Given the description of an element on the screen output the (x, y) to click on. 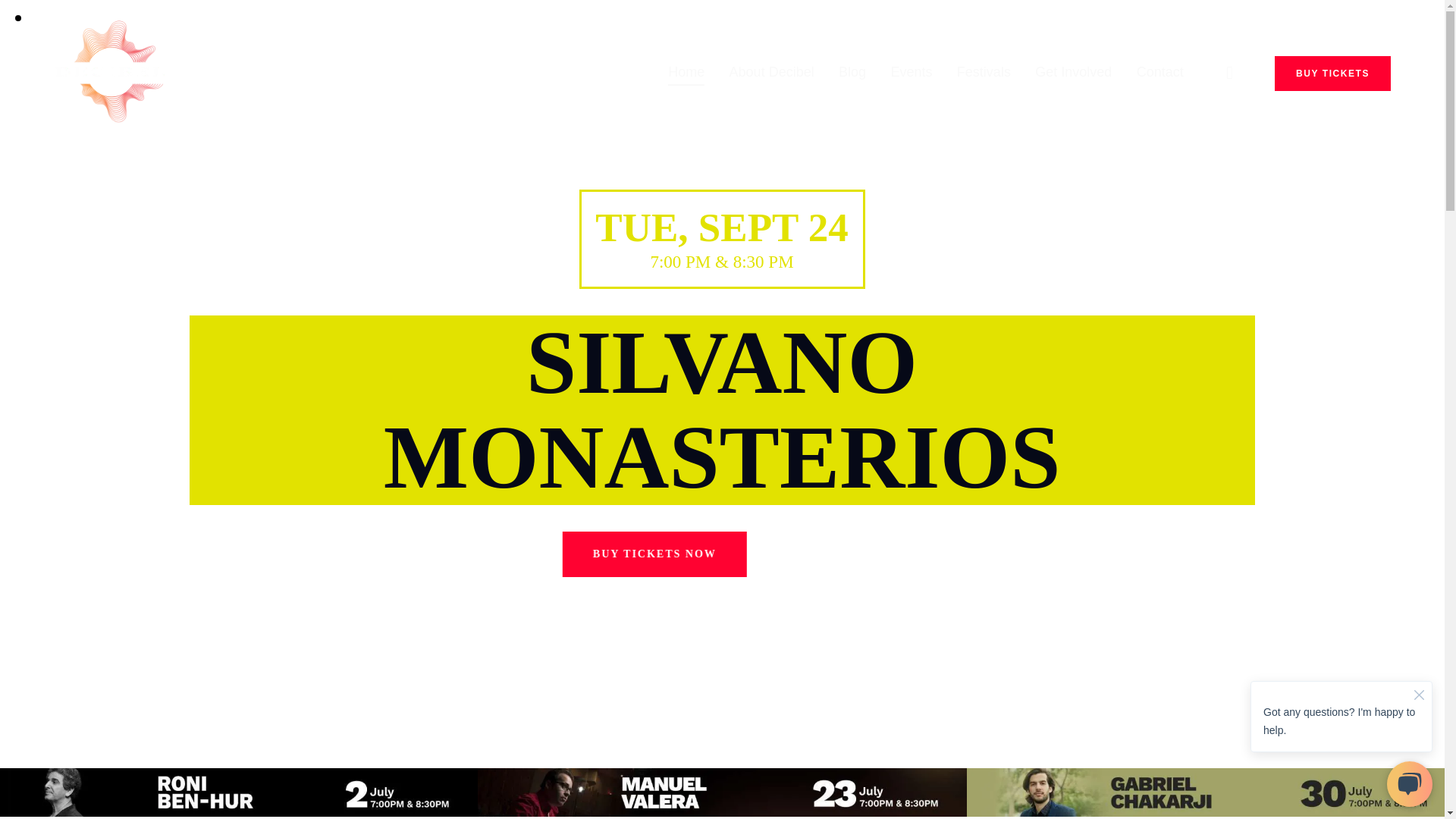
About Decibel (770, 72)
Roni Ben-Hur - Decibel - Decibel (238, 792)
Home (686, 72)
Manuel Valera - Decibel - Decibel (721, 792)
Contact (1159, 72)
Festivals (983, 72)
Events (910, 72)
BUY TICKETS (1332, 73)
Get Involved (1073, 72)
Blog (852, 72)
